Given the description of an element on the screen output the (x, y) to click on. 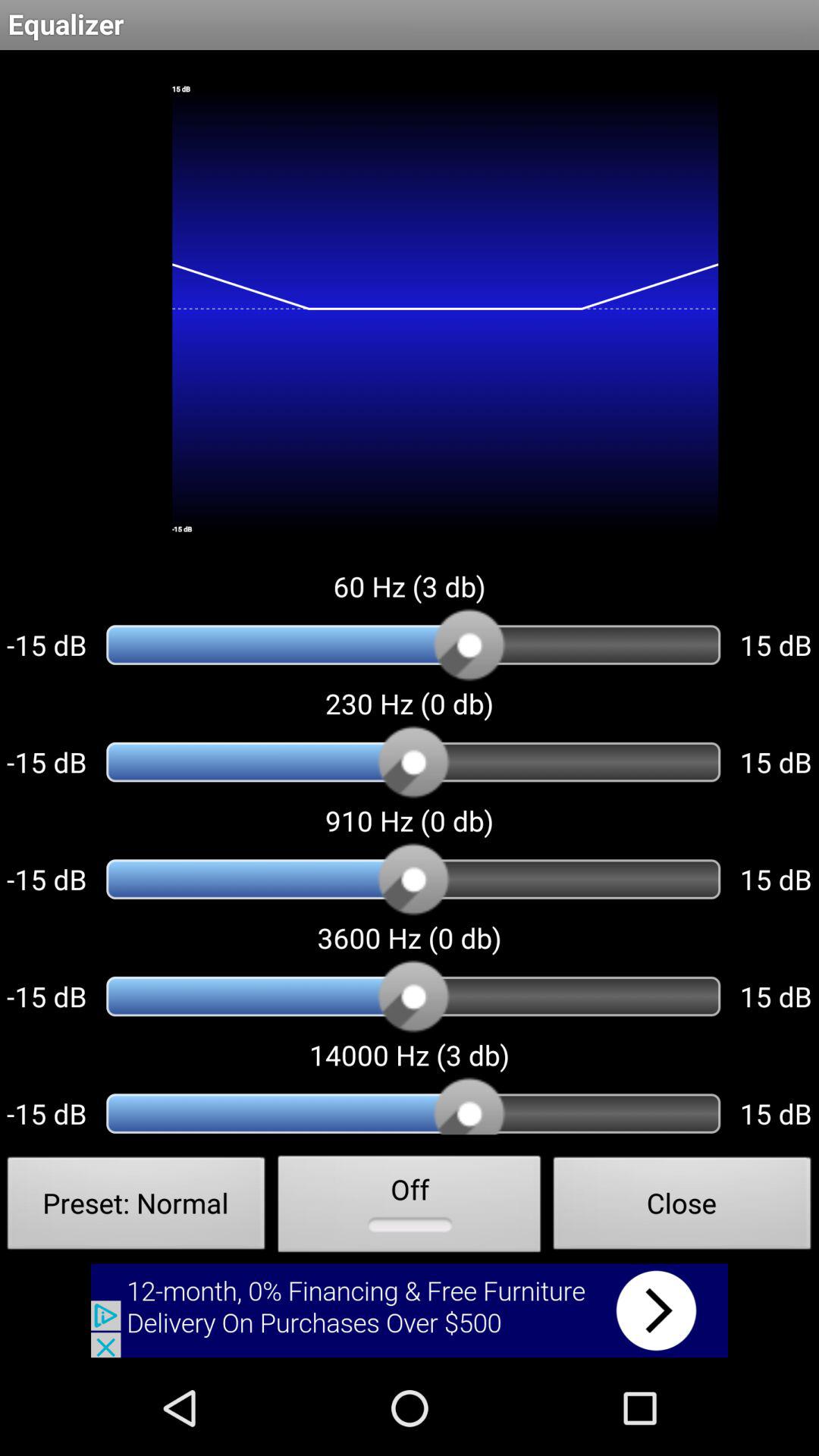
banner advertisement (409, 1310)
